Given the description of an element on the screen output the (x, y) to click on. 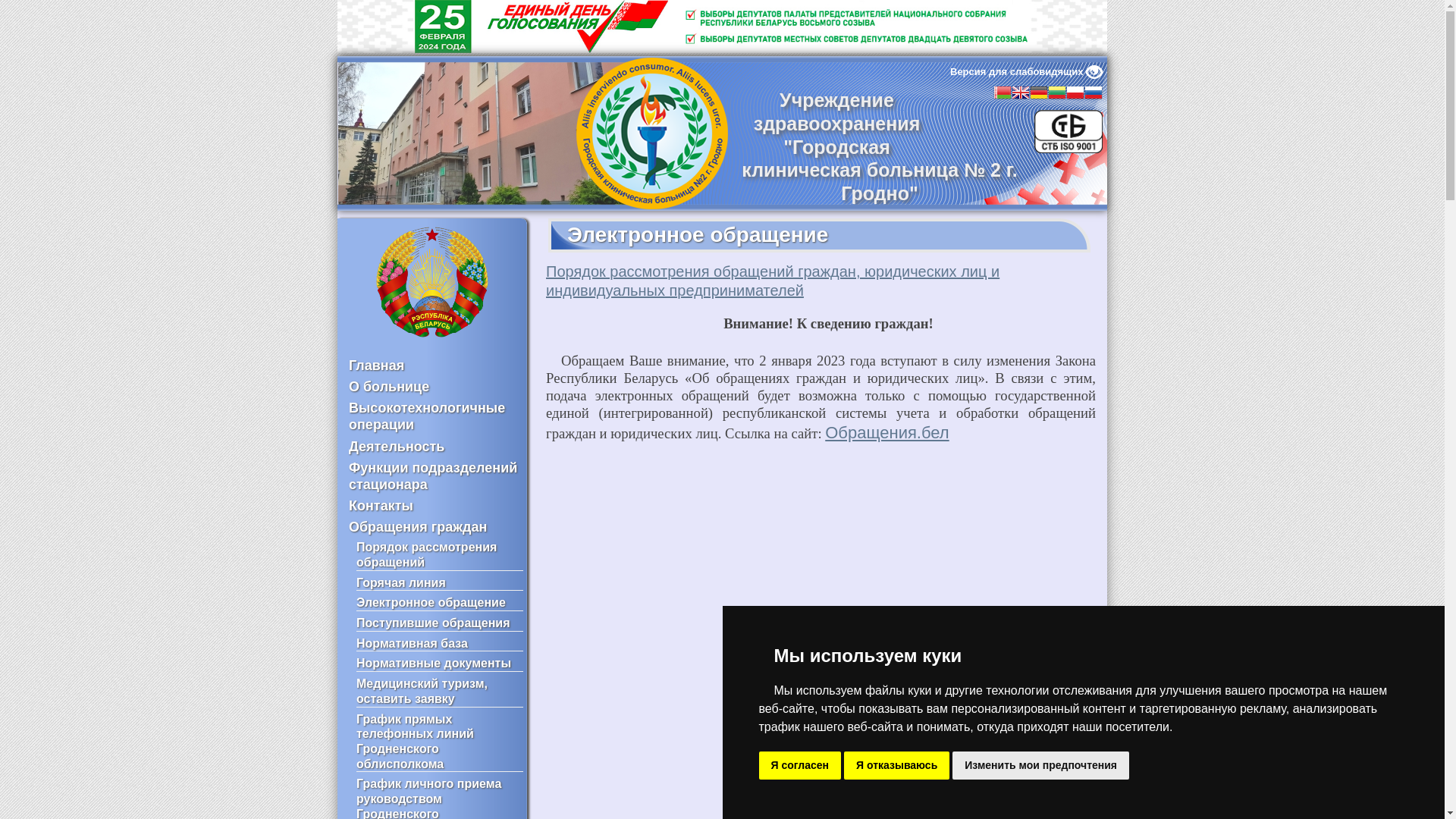
Russian Element type: hover (1093, 94)
Lithuanian Element type: hover (1057, 94)
German Element type: hover (1038, 94)
Polish Element type: hover (1075, 94)
Belarusian Element type: hover (1002, 94)
English Element type: hover (1020, 94)
